Given the description of an element on the screen output the (x, y) to click on. 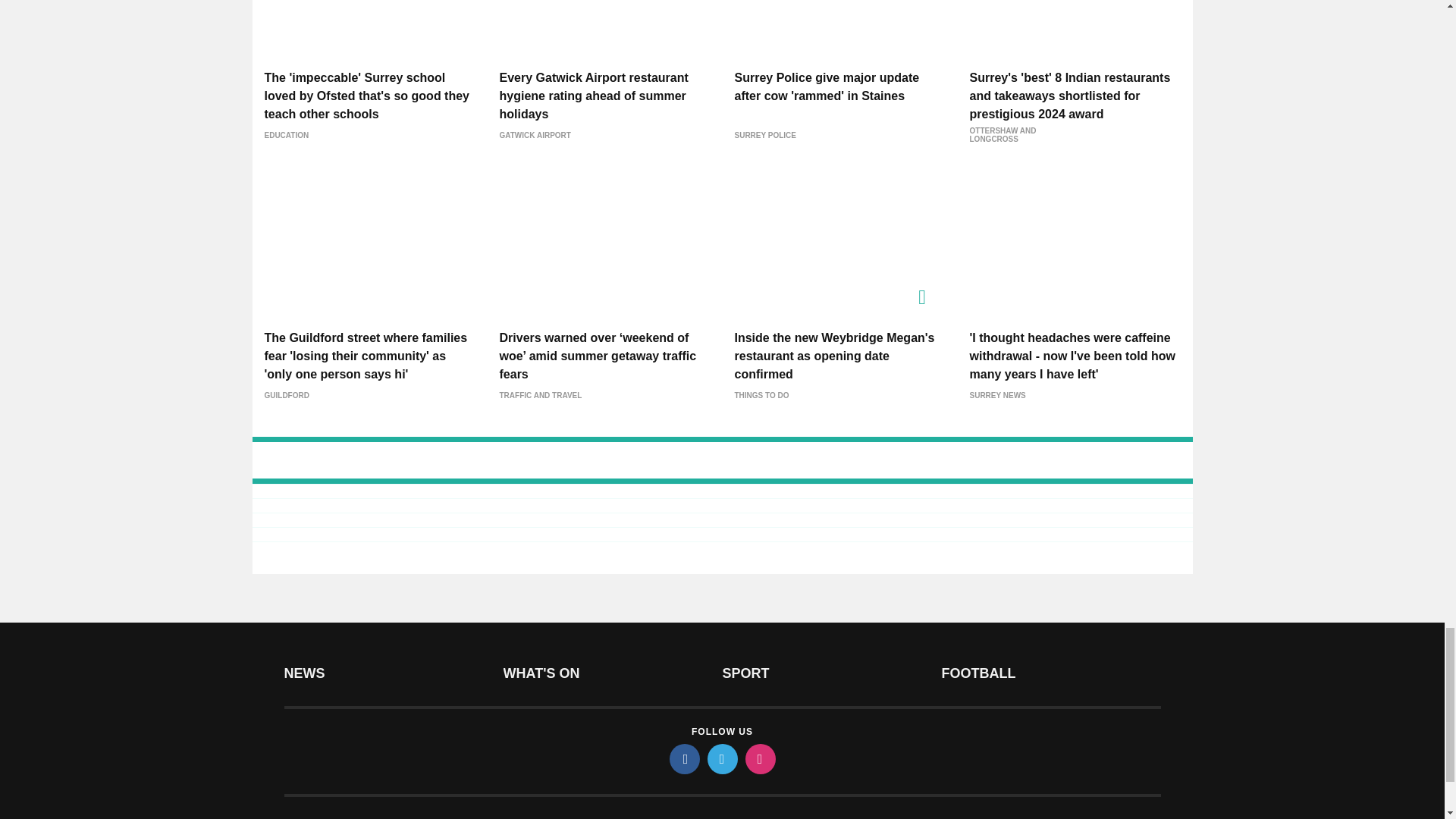
facebook (683, 758)
instagram (759, 758)
twitter (721, 758)
